Given the description of an element on the screen output the (x, y) to click on. 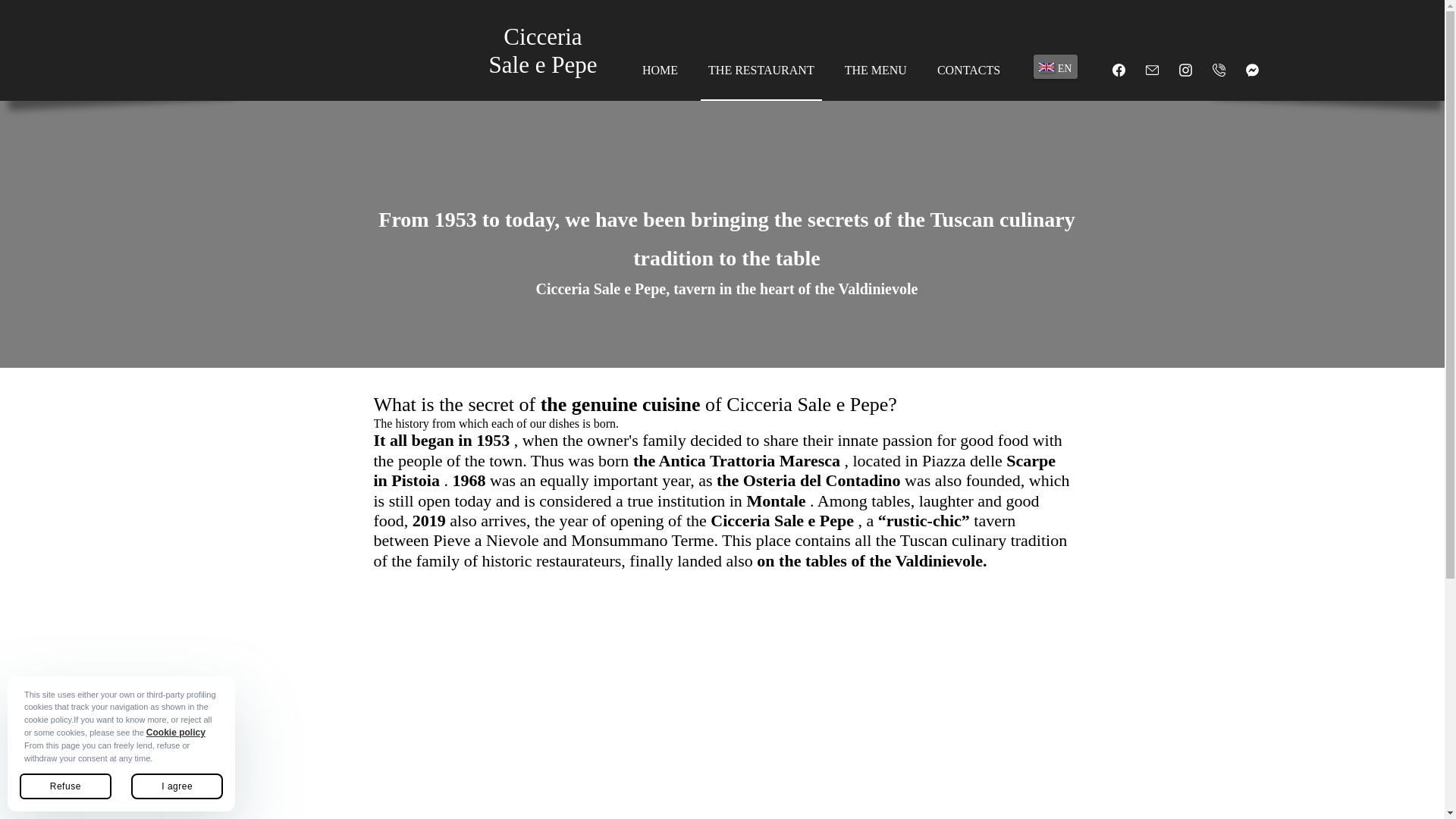
Cookie policy (176, 732)
